Given the description of an element on the screen output the (x, y) to click on. 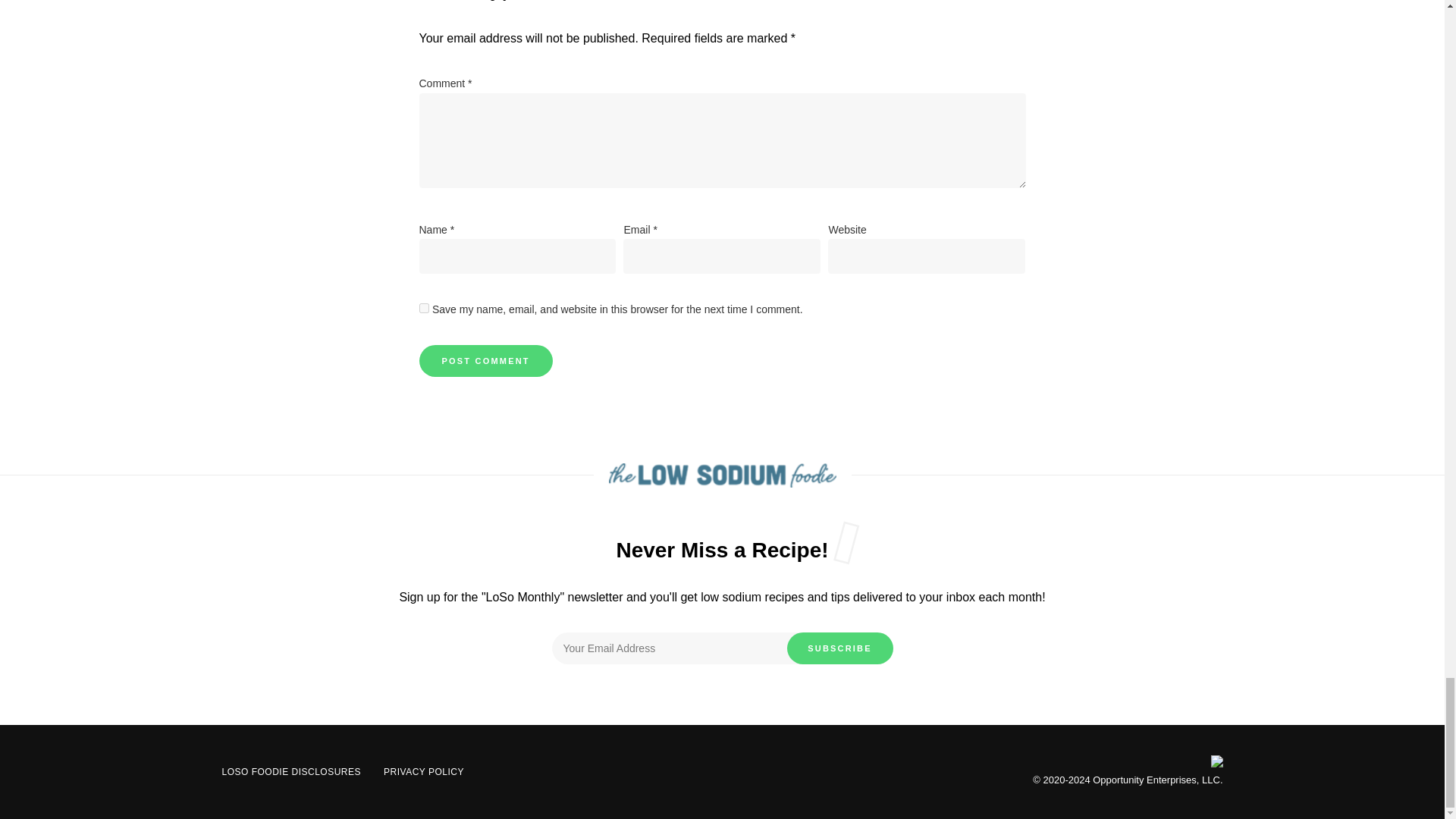
Post Comment (485, 360)
Subscribe (840, 648)
yes (423, 307)
